Given the description of an element on the screen output the (x, y) to click on. 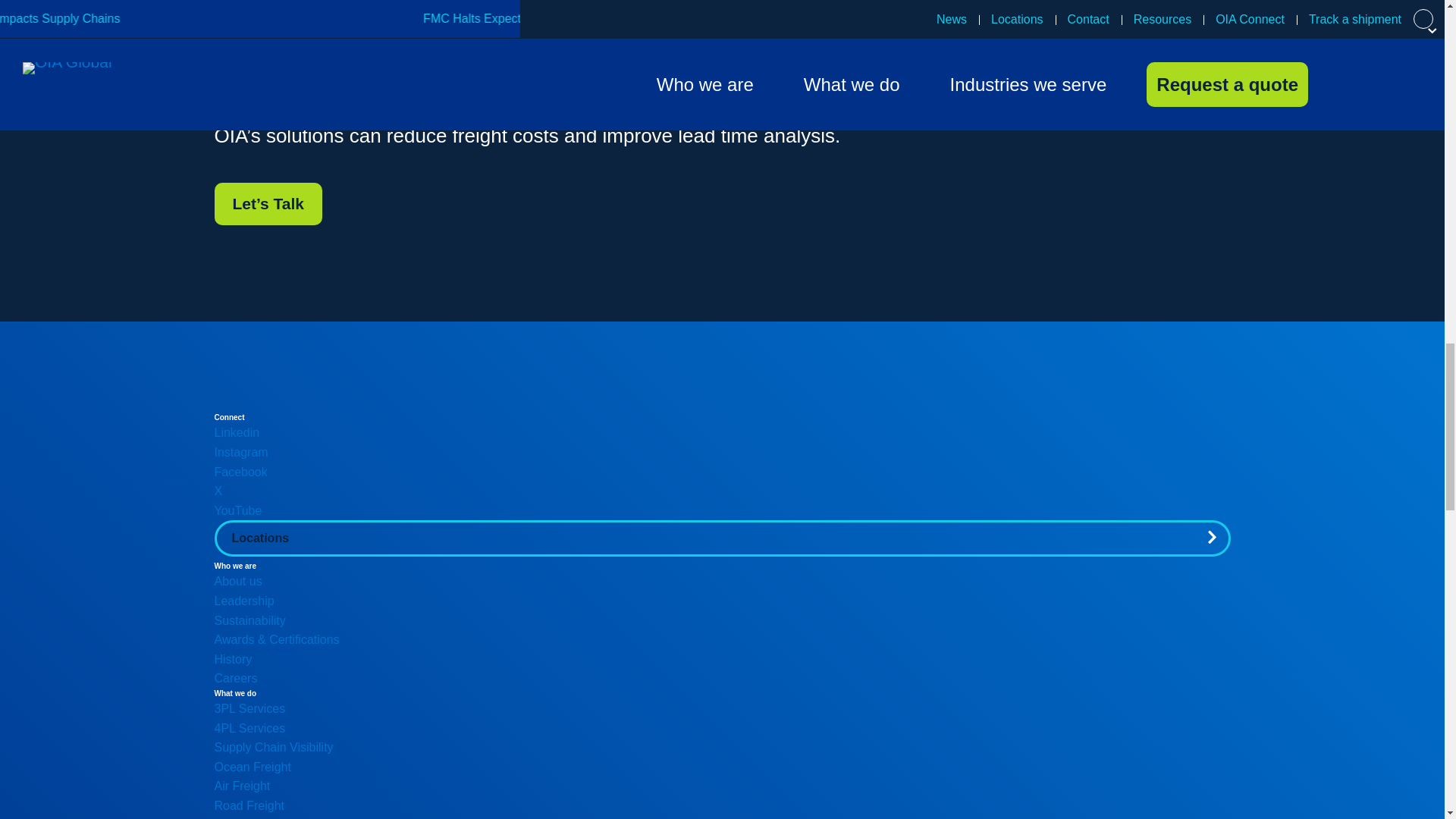
Facebook (240, 472)
Locations (722, 538)
Instagram (240, 451)
YouTube (238, 510)
Linkedin (236, 431)
Careers (235, 677)
Sustainability (249, 620)
Leadership (243, 600)
About us (238, 581)
History (232, 658)
